Given the description of an element on the screen output the (x, y) to click on. 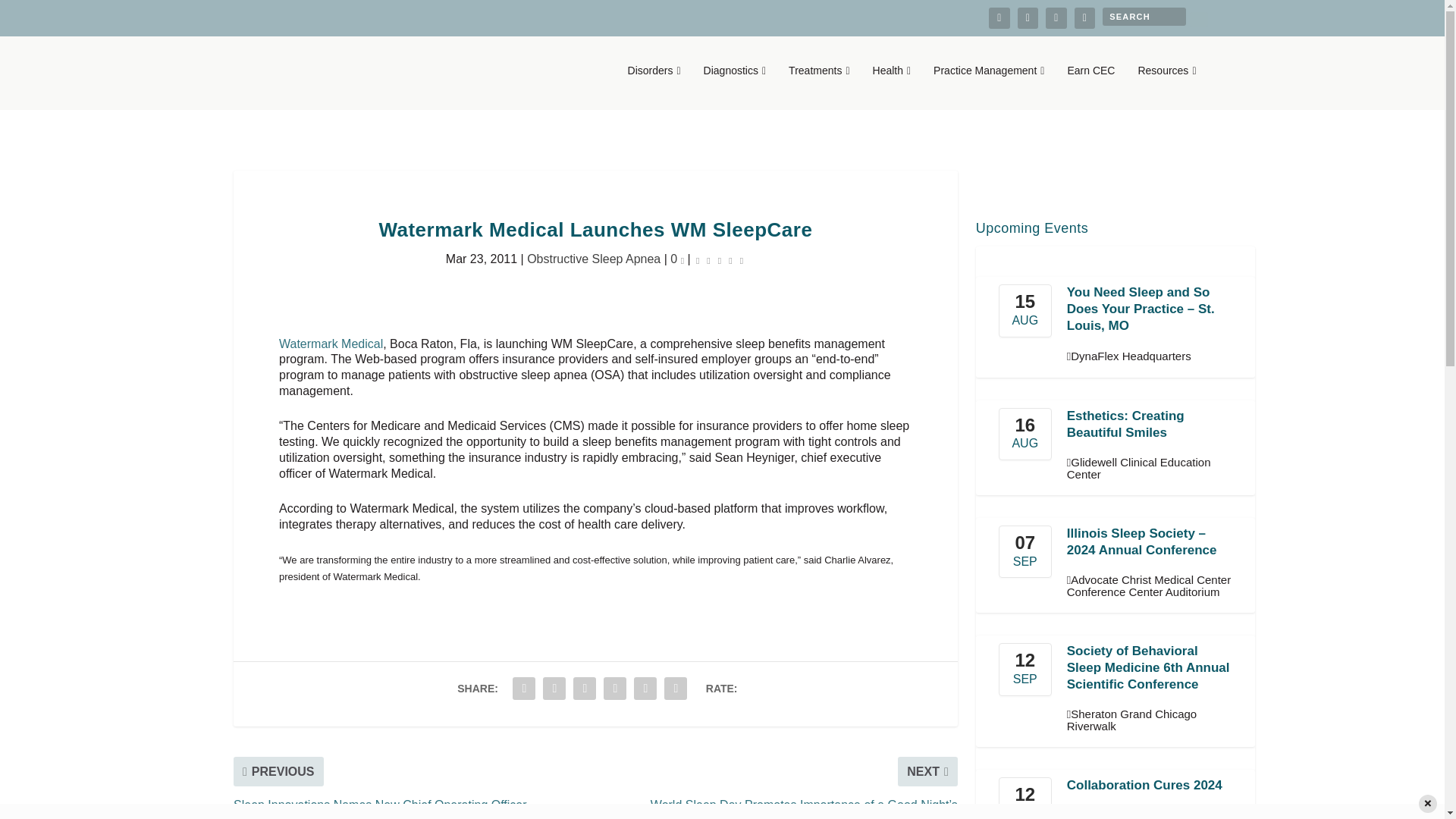
Share "Watermark Medical Launches WM SleepCare" via Print (675, 688)
Search for: (1144, 16)
Rating: 0.00 (719, 259)
Resources (1166, 86)
Share "Watermark Medical Launches WM SleepCare" via LinkedIn (614, 688)
Share "Watermark Medical Launches WM SleepCare" via Email (645, 688)
Disorders (654, 86)
Share "Watermark Medical Launches WM SleepCare" via Facebook (523, 688)
Share "Watermark Medical Launches WM SleepCare" via Twitter (553, 688)
